Given the description of an element on the screen output the (x, y) to click on. 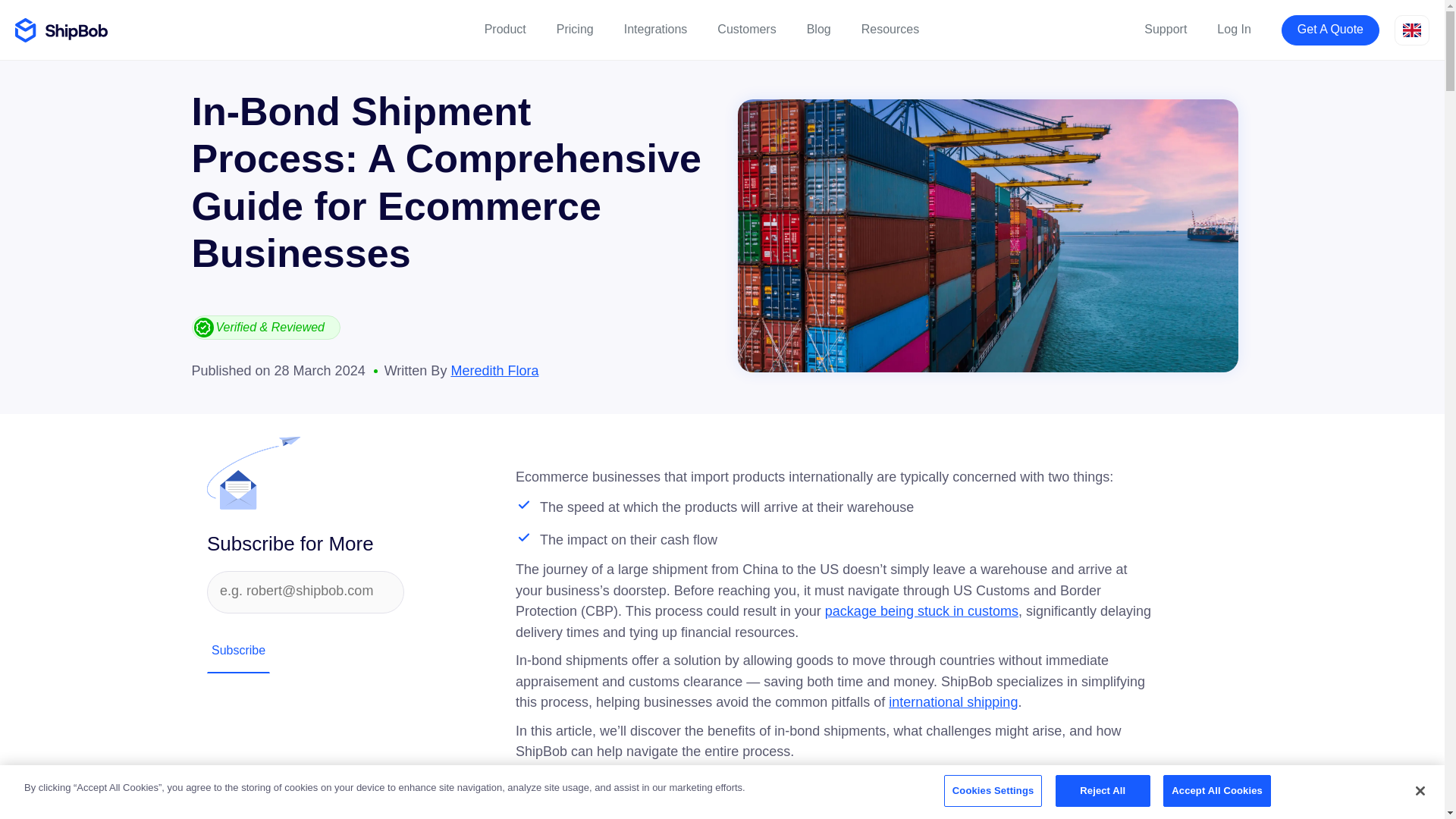
Subscribe  (237, 650)
Subscribe  (237, 650)
Support (1165, 29)
Blog (818, 29)
Get A Quote (1329, 30)
international shipping (952, 702)
Posts by Meredith Flora (493, 370)
Skip to content (45, 14)
Pricing (575, 29)
Resources (889, 29)
